Given the description of an element on the screen output the (x, y) to click on. 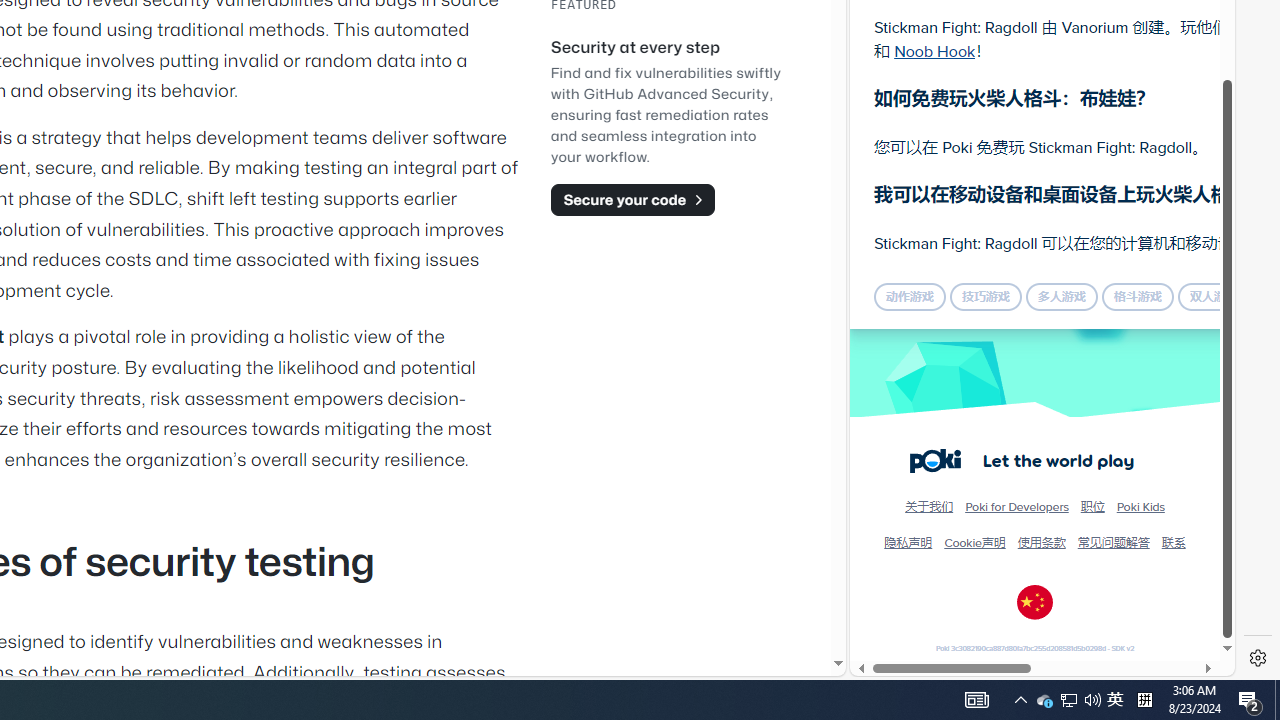
Combat Reloaded (1092, 200)
China (1035, 602)
Poki (1034, 606)
Crazy Cars (1217, 290)
Combat Reloaded Combat Reloaded poki.com (1092, 245)
Poki Kids (1140, 506)
